Given the description of an element on the screen output the (x, y) to click on. 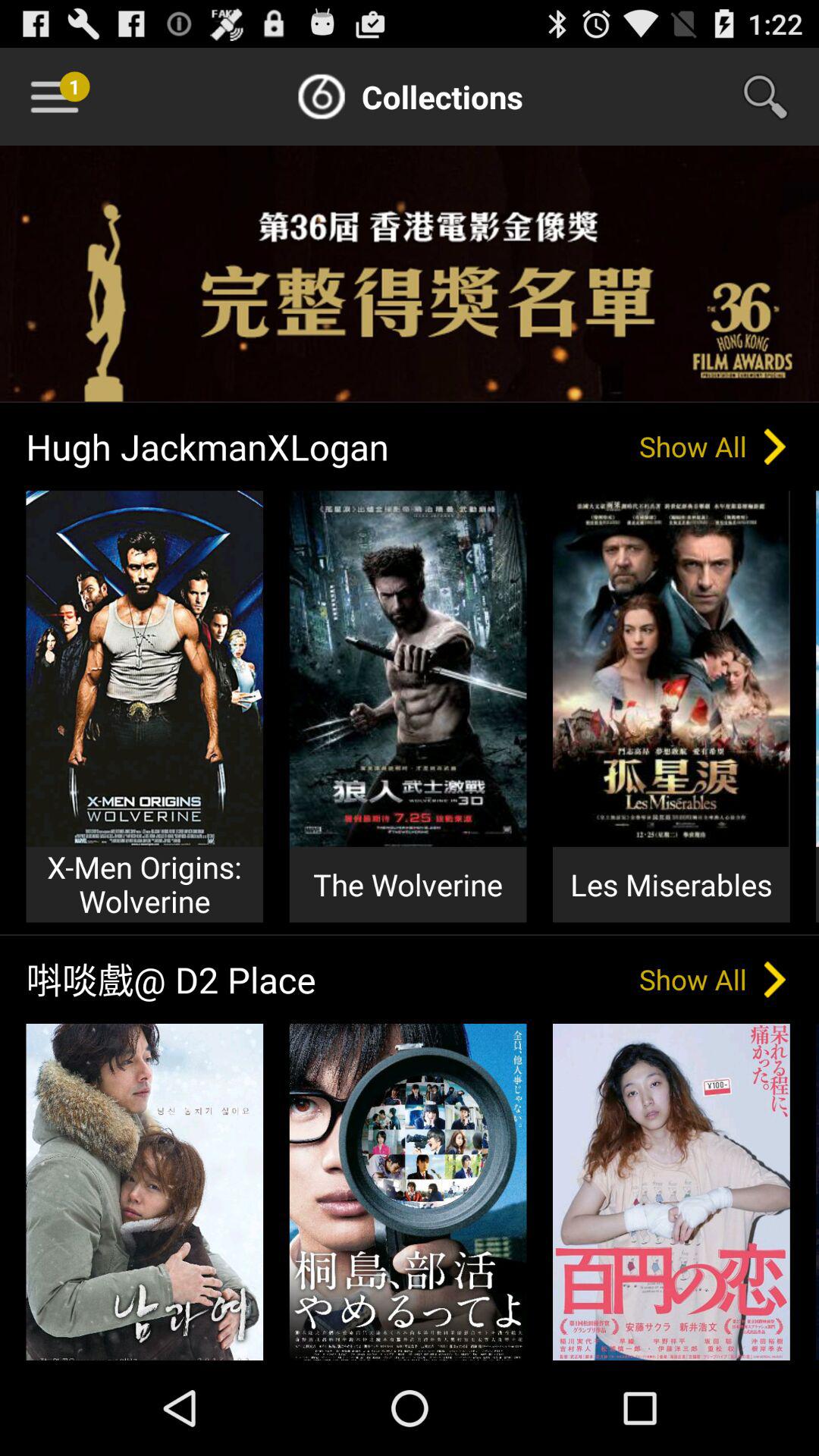
click on search bar below time (775, 97)
image above les miserables text (671, 668)
click on the first box in the first row (144, 668)
the button right to first text of show all (774, 446)
